Given the description of an element on the screen output the (x, y) to click on. 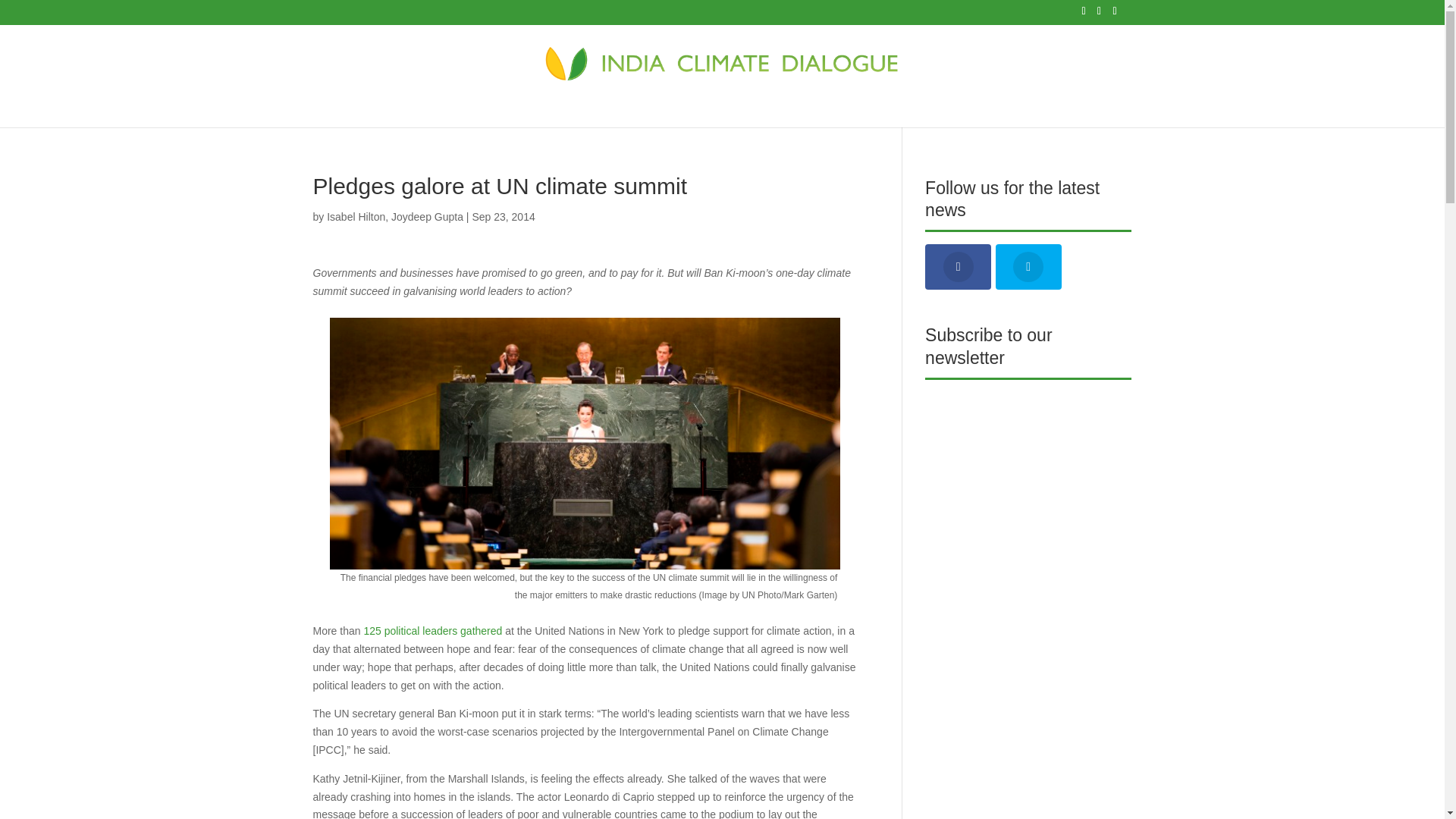
125 political leaders gathered (432, 630)
Posts by Joydeep Gupta (427, 216)
Isabel Hilton (355, 216)
Joydeep Gupta (427, 216)
Posts by Isabel Hilton (355, 216)
